Given the description of an element on the screen output the (x, y) to click on. 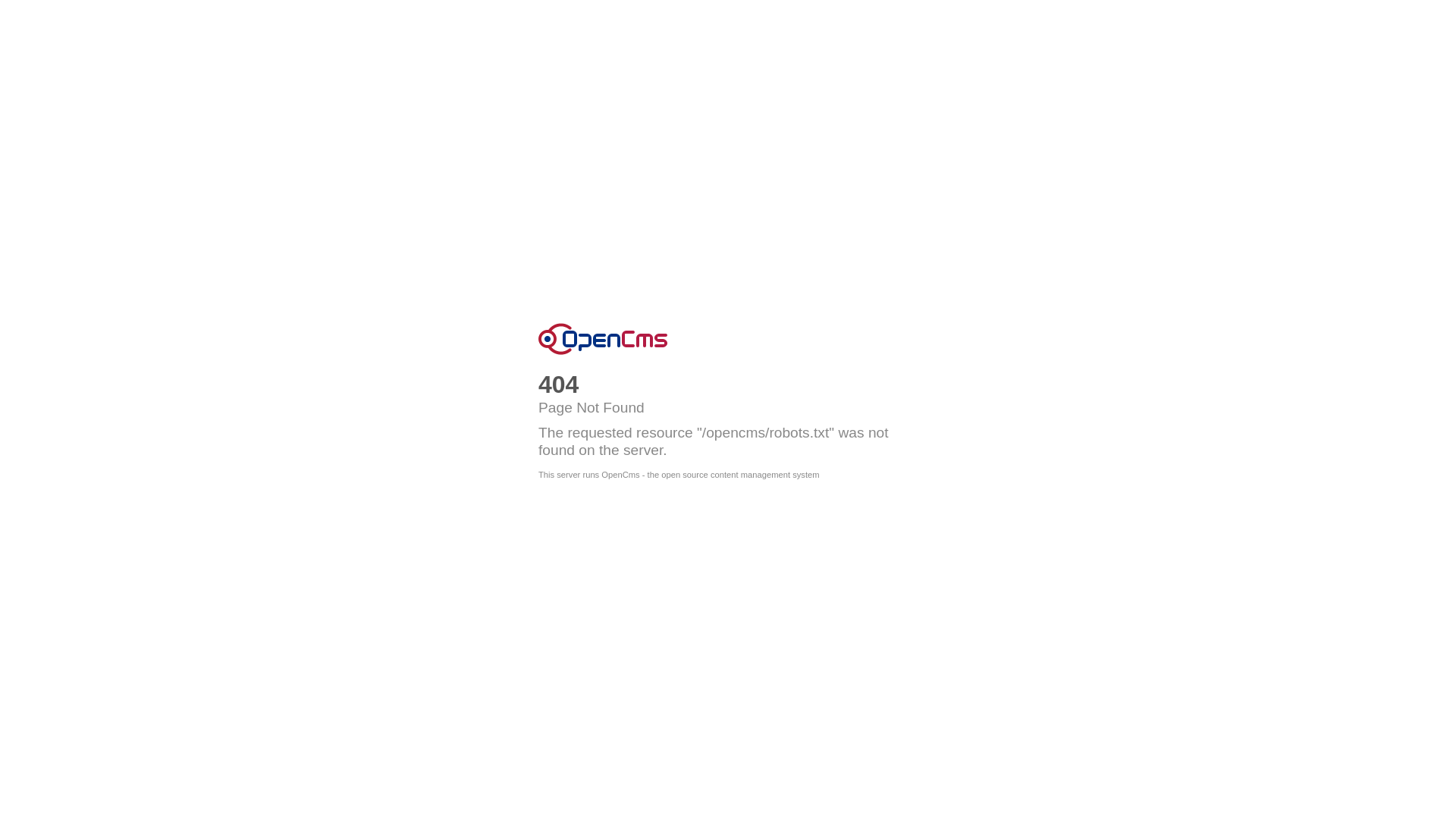
OpenCms Element type: text (602, 338)
